Given the description of an element on the screen output the (x, y) to click on. 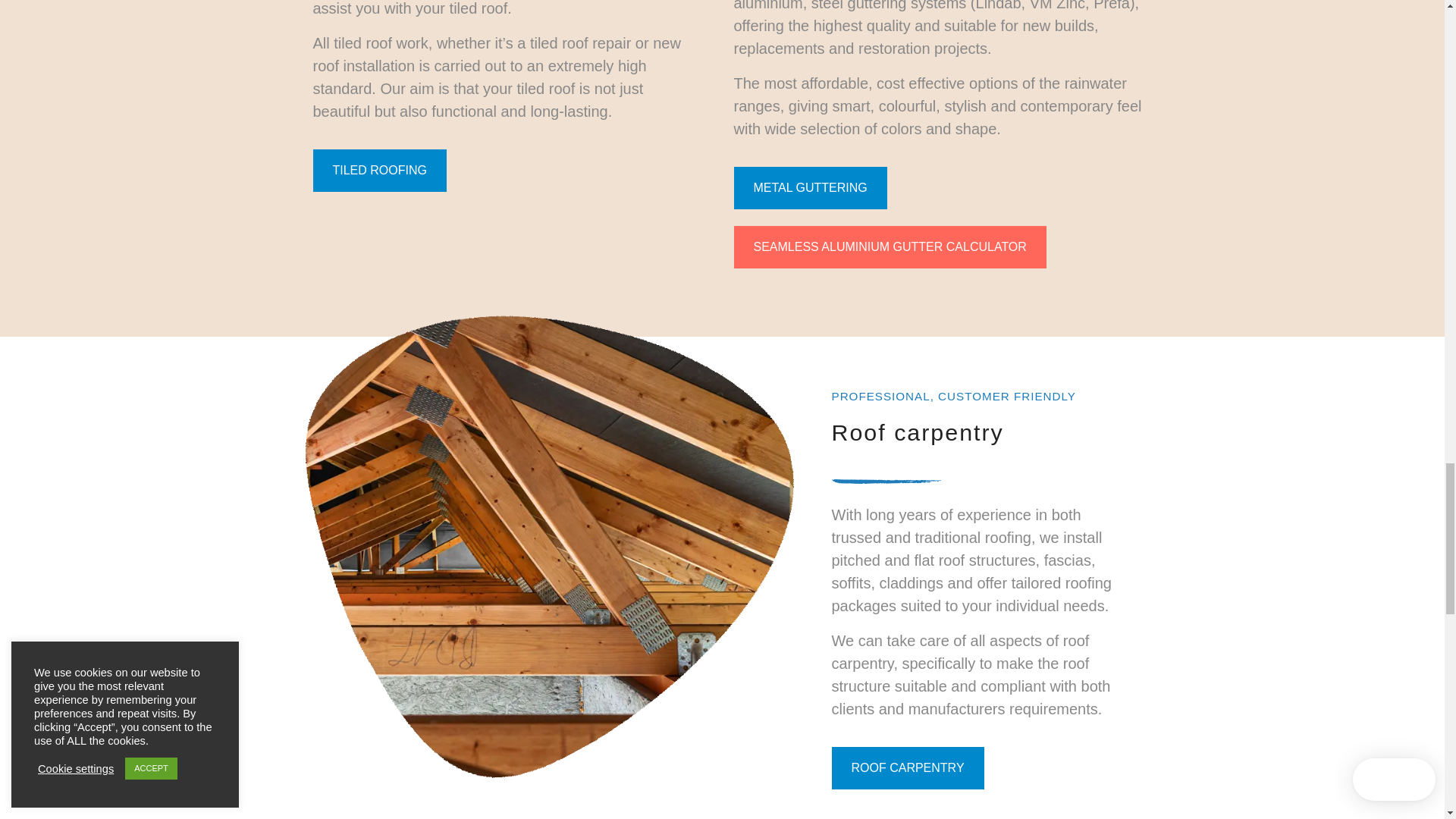
ROOF CARPENTRY (907, 767)
METAL GUTTERING (809, 188)
TILED ROOFING (379, 170)
SEAMLESS ALUMINIUM GUTTER CALCULATOR (889, 247)
